Given the description of an element on the screen output the (x, y) to click on. 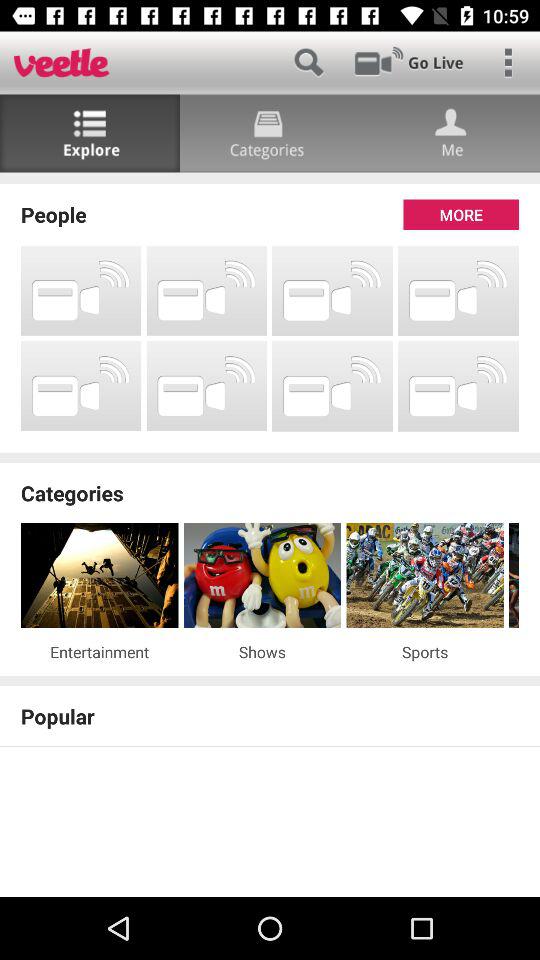
tap the popular app (270, 715)
